Given the description of an element on the screen output the (x, y) to click on. 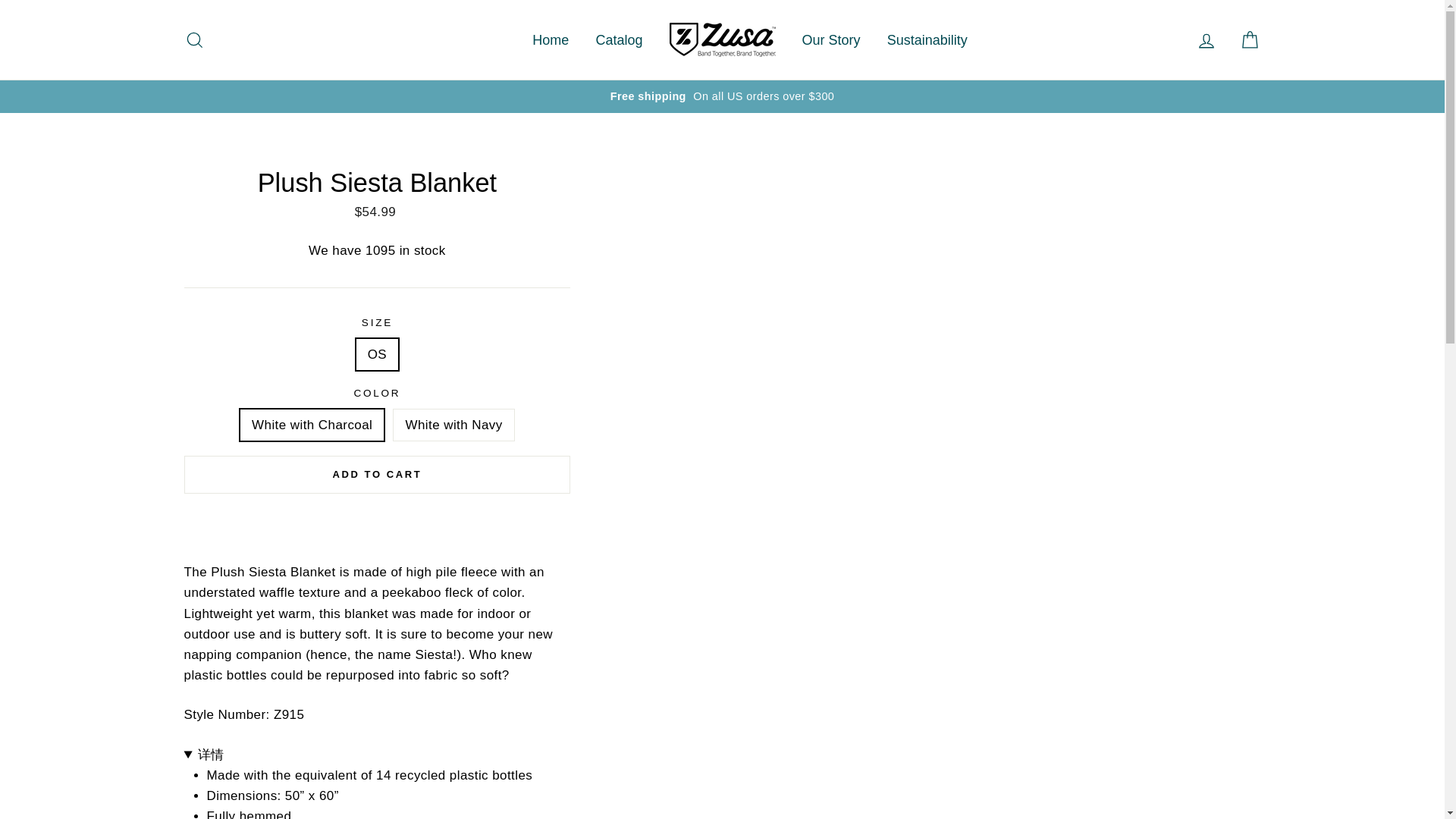
Catalog (618, 39)
Home (550, 39)
Search (194, 39)
